Given the description of an element on the screen output the (x, y) to click on. 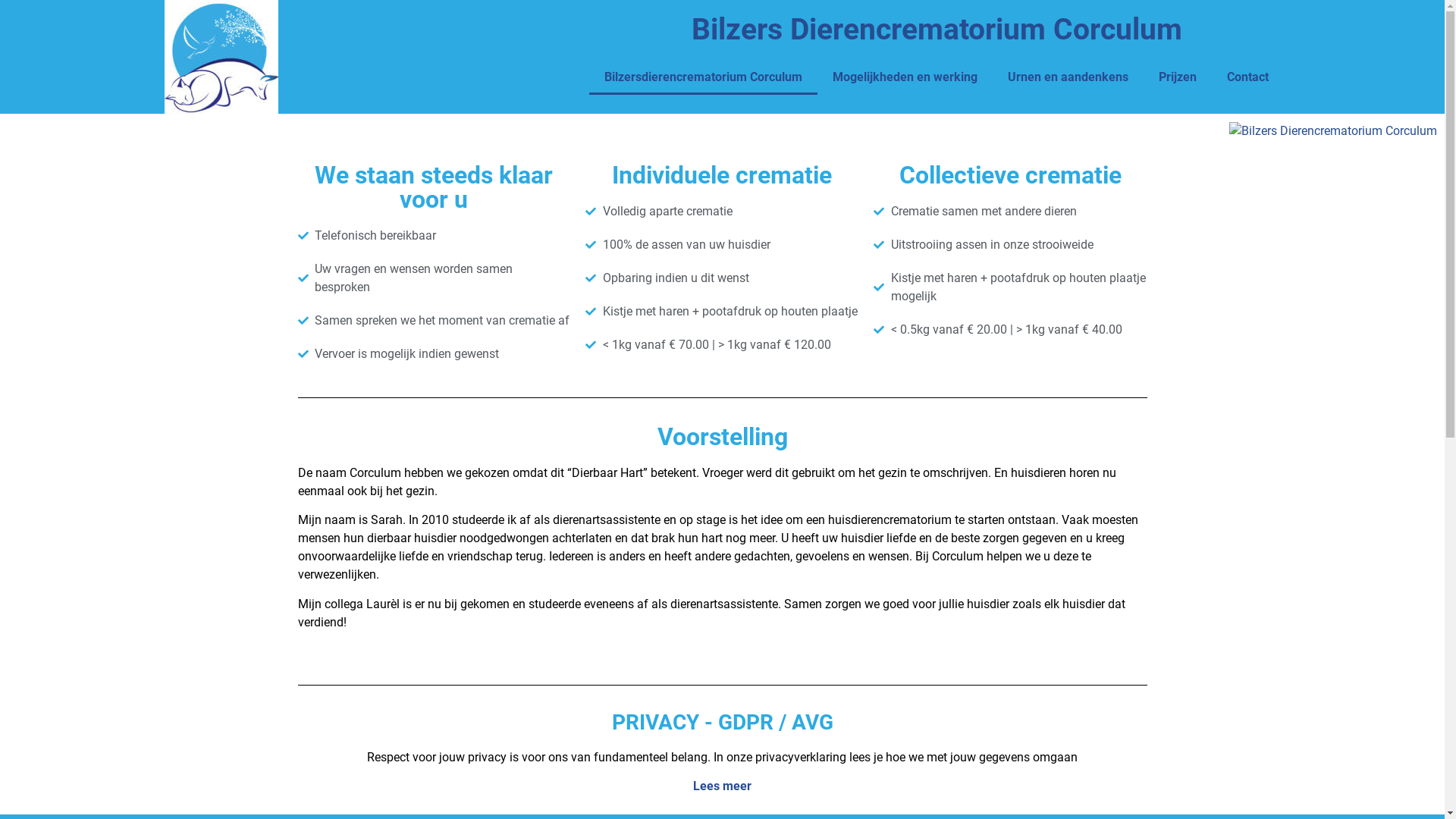
BilzersDierencrematoriumCorculum Element type: hover (1333, 131)
Lees meer Element type: text (722, 785)
Urnen en aandenkens Element type: text (1067, 76)
Contact Element type: text (1247, 76)
Bilzersdierencrematorium Corculum Element type: text (703, 76)
Mogelijkheden en werking Element type: text (904, 76)
Bilzers Dierencrematorium Corculum Element type: text (936, 29)
Prijzen Element type: text (1177, 76)
